Given the description of an element on the screen output the (x, y) to click on. 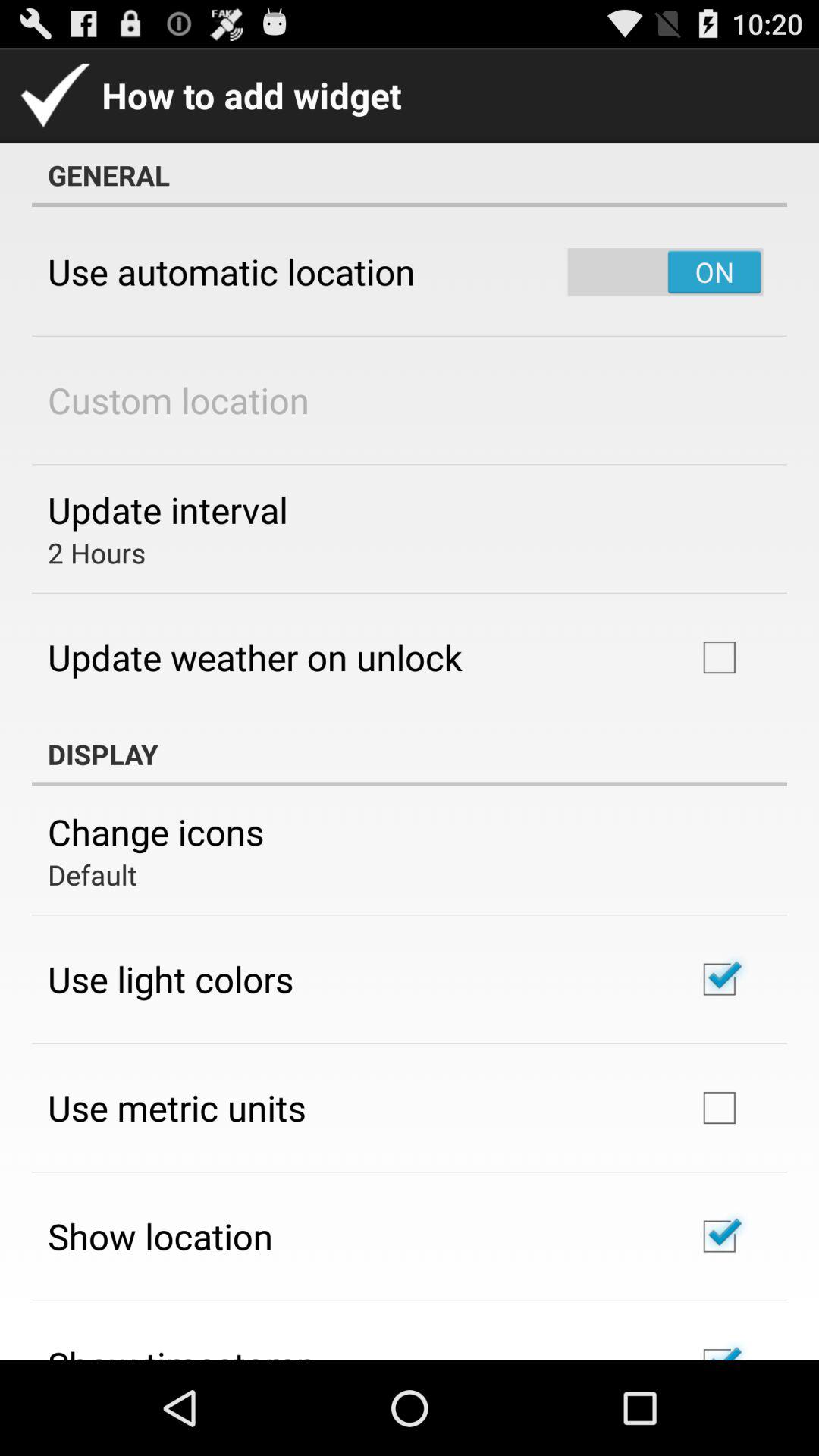
launch item next to the use automatic location (665, 271)
